Given the description of an element on the screen output the (x, y) to click on. 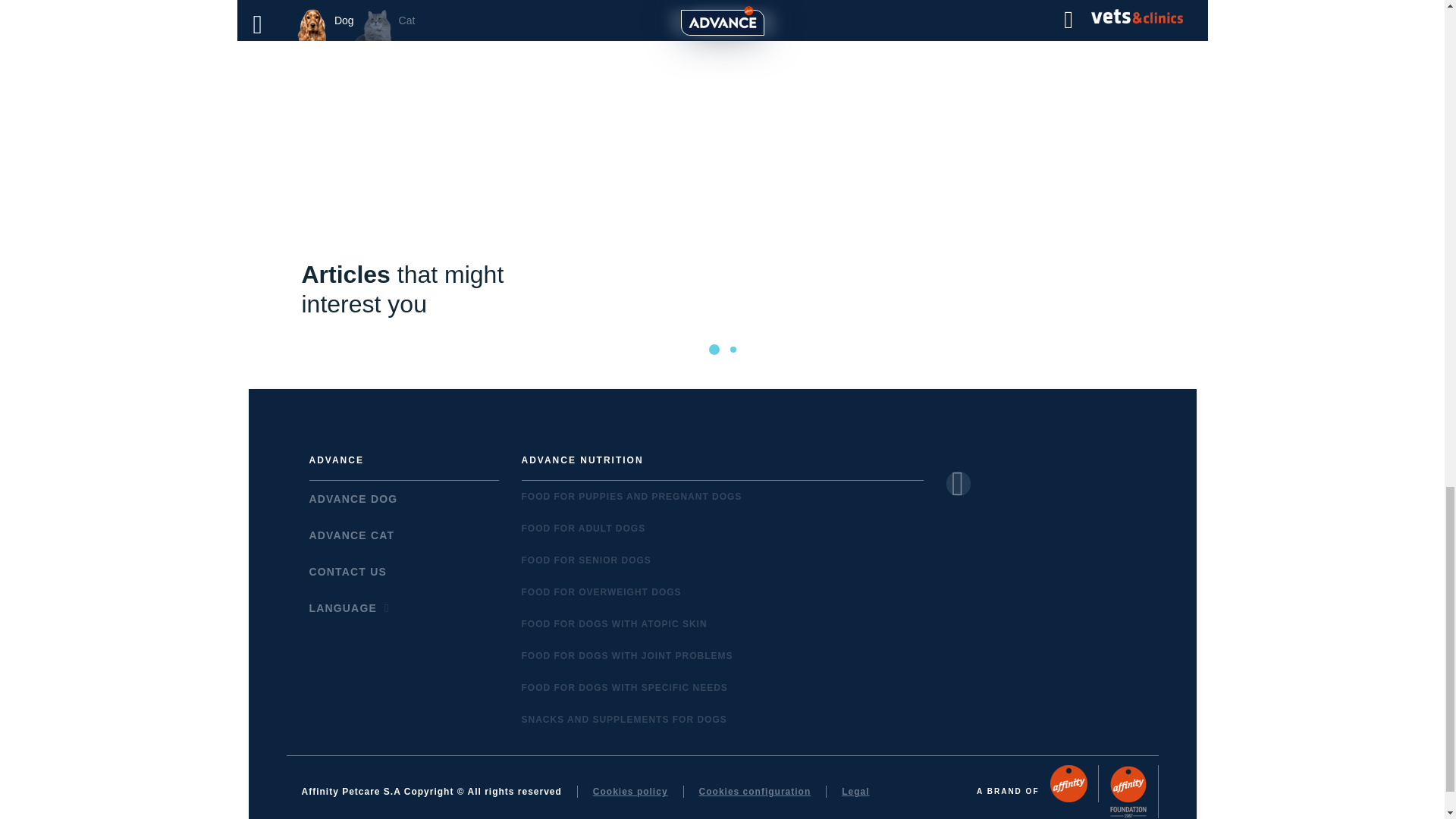
LANGUAGE (350, 608)
ADVANCE DOG (352, 498)
Affinity (1068, 783)
ADVANCE CAT (351, 534)
Foundation (1127, 791)
CONTACT US (347, 571)
